Given the description of an element on the screen output the (x, y) to click on. 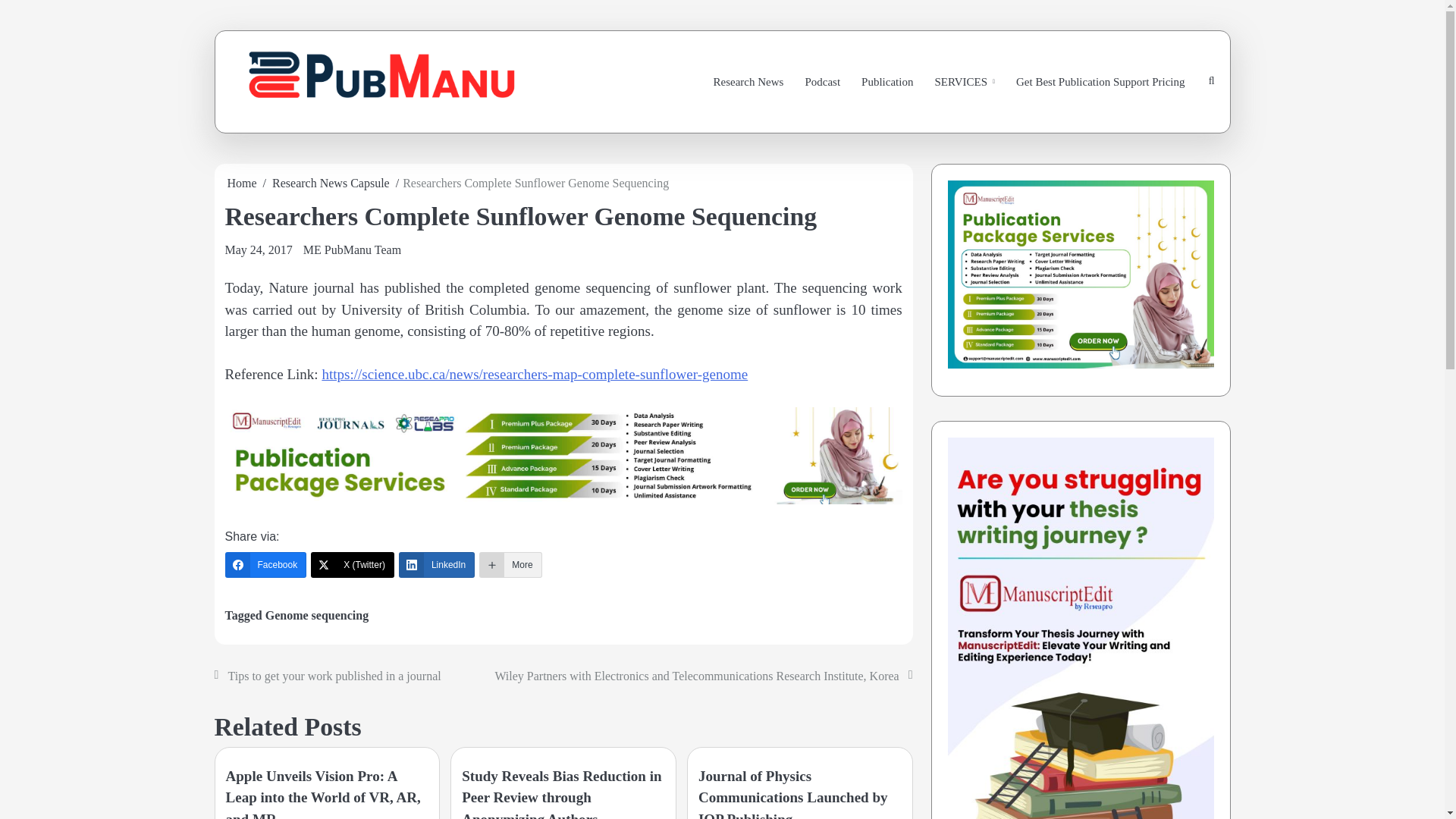
More (510, 565)
ME PubManu Team (351, 249)
Facebook (264, 565)
SERVICES (964, 81)
Home (242, 182)
Podcast (821, 81)
Research News (748, 81)
Publication (886, 81)
May 24, 2017 (258, 249)
Search (1175, 123)
LinkedIn (436, 565)
Get Best Publication Support Pricing (1100, 81)
Research News Capsule (331, 182)
